Given the description of an element on the screen output the (x, y) to click on. 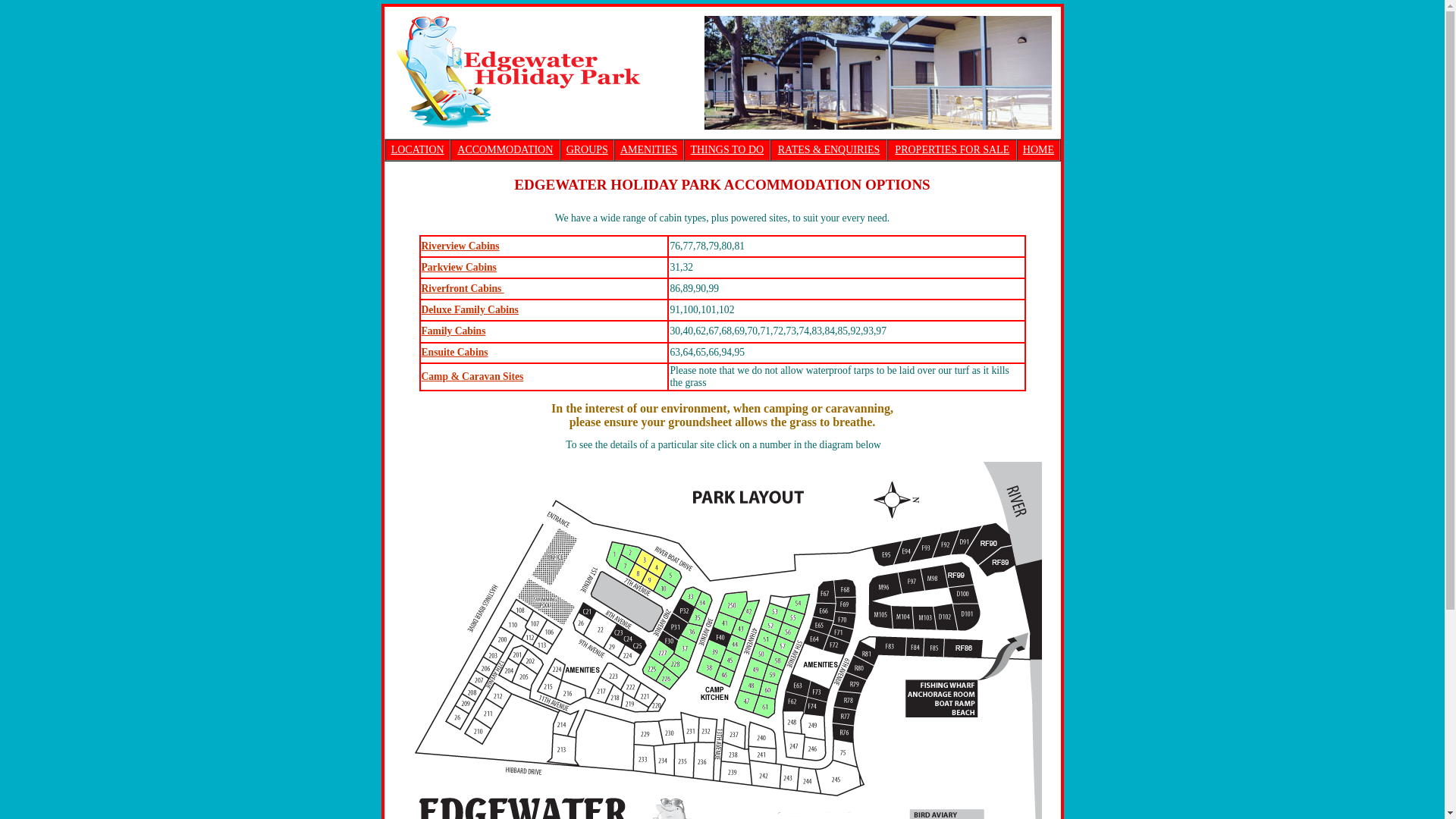
PROPERTIES FOR SALE Element type: text (951, 149)
RATES & ENQUIRIES Element type: text (829, 149)
Deluxe Family Cabins Element type: text (469, 309)
Family Cabins Element type: text (453, 330)
Camp & Caravan Sites Element type: text (472, 376)
Riverview Cabins Element type: text (460, 245)
HOME Element type: text (1038, 149)
Parkview Cabins Element type: text (458, 267)
AMENITIES Element type: text (648, 149)
GROUPS Element type: text (587, 149)
Ensuite Cabins Element type: text (454, 351)
Riverfront Cabins  Element type: text (462, 288)
THINGS TO DO Element type: text (726, 149)
ACCOMMODATION Element type: text (504, 149)
LOCATION Element type: text (417, 149)
